Given the description of an element on the screen output the (x, y) to click on. 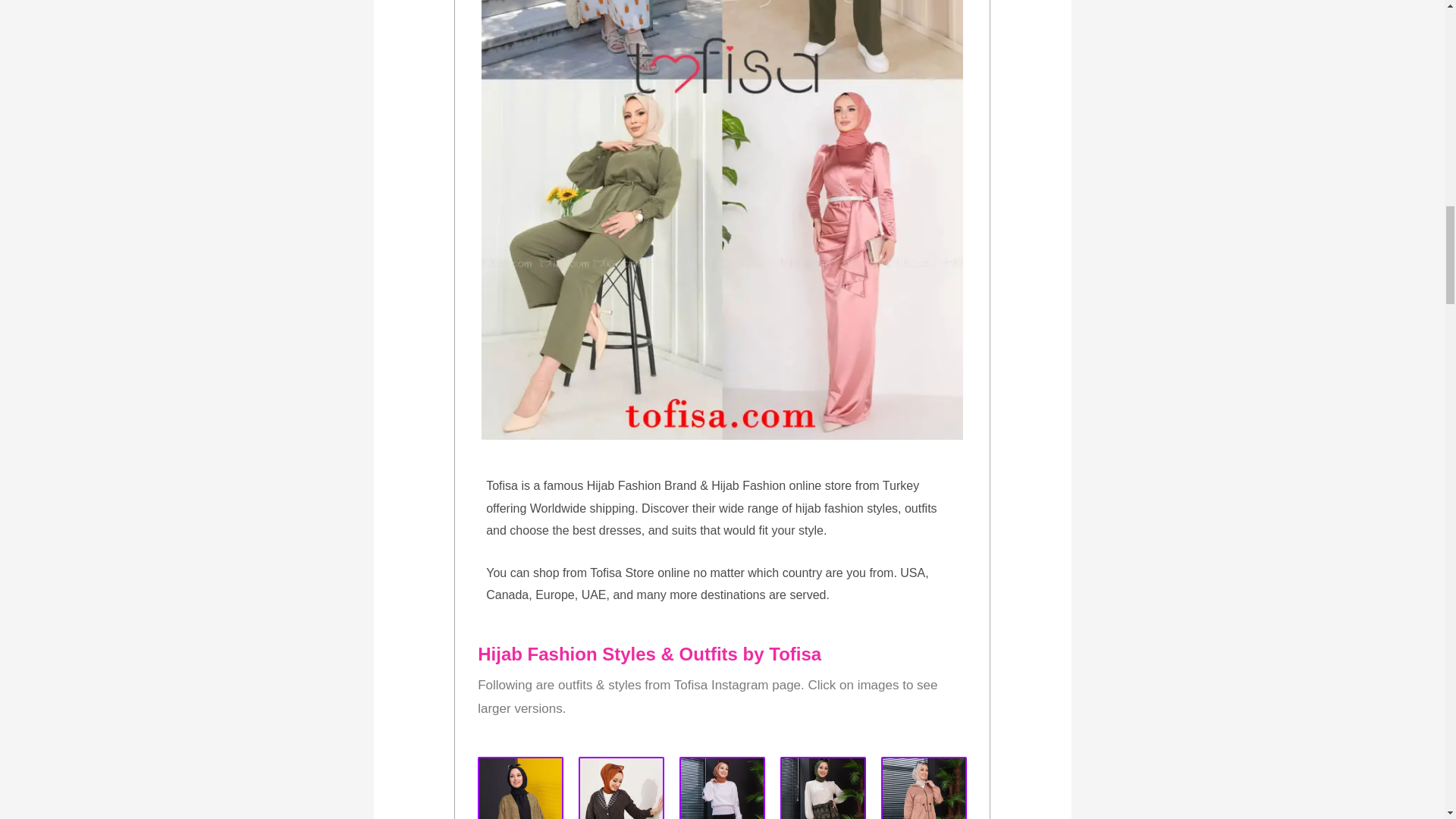
10 Best Turkish Hijab Fashion Brands to Shop Online 44 (620, 787)
10 Best Turkish Hijab Fashion Brands to Shop Online 43 (520, 787)
